Given the description of an element on the screen output the (x, y) to click on. 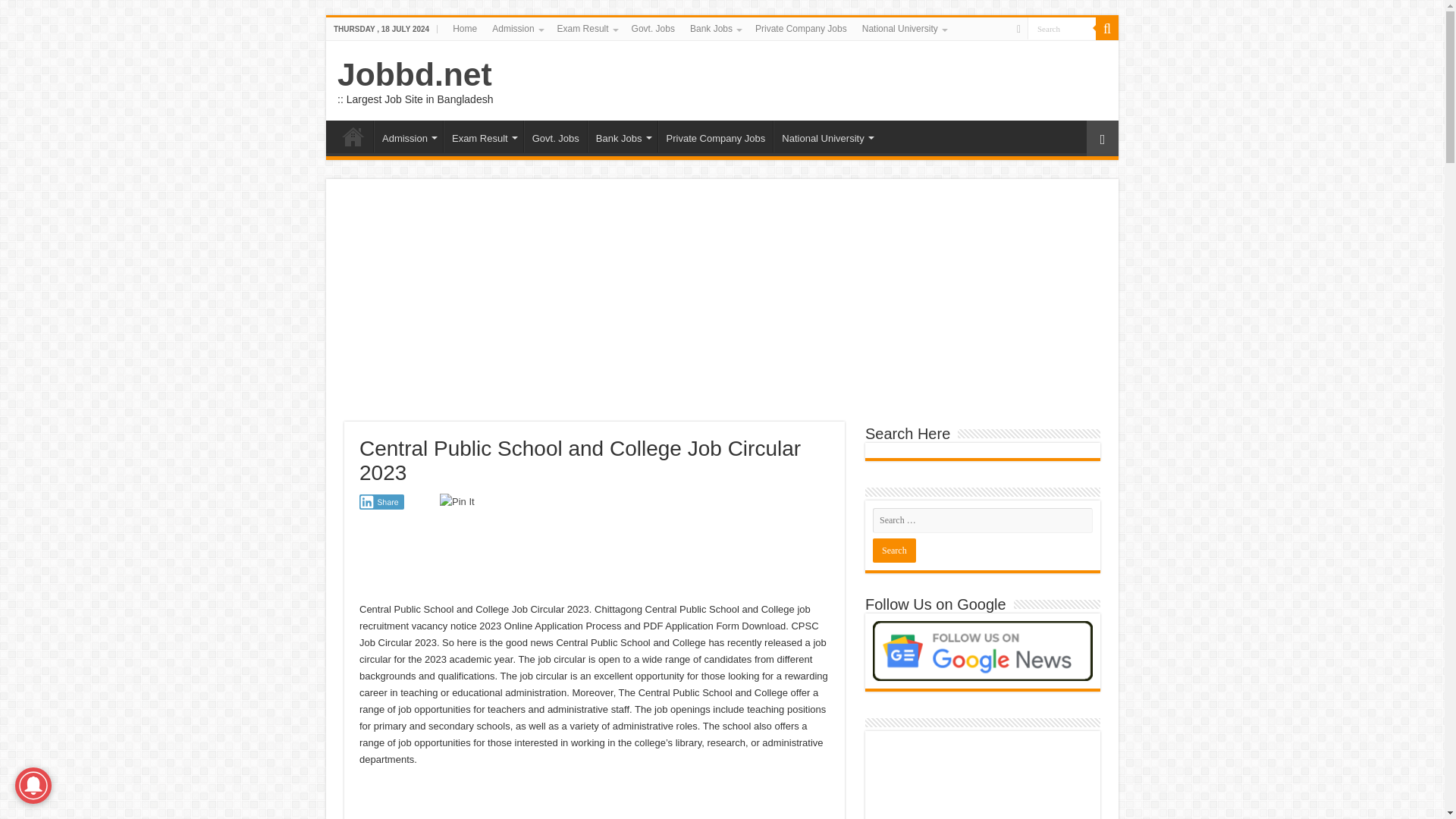
Private Company Jobs (801, 28)
Advertisement (635, 555)
Search (1061, 28)
Admission (516, 28)
Pin It (456, 501)
National University (903, 28)
Govt. Jobs (653, 28)
Search (1061, 28)
Search (893, 550)
Bank Jobs (715, 28)
Search (893, 550)
Exam Result (587, 28)
Home (464, 28)
Search (1061, 28)
